Given the description of an element on the screen output the (x, y) to click on. 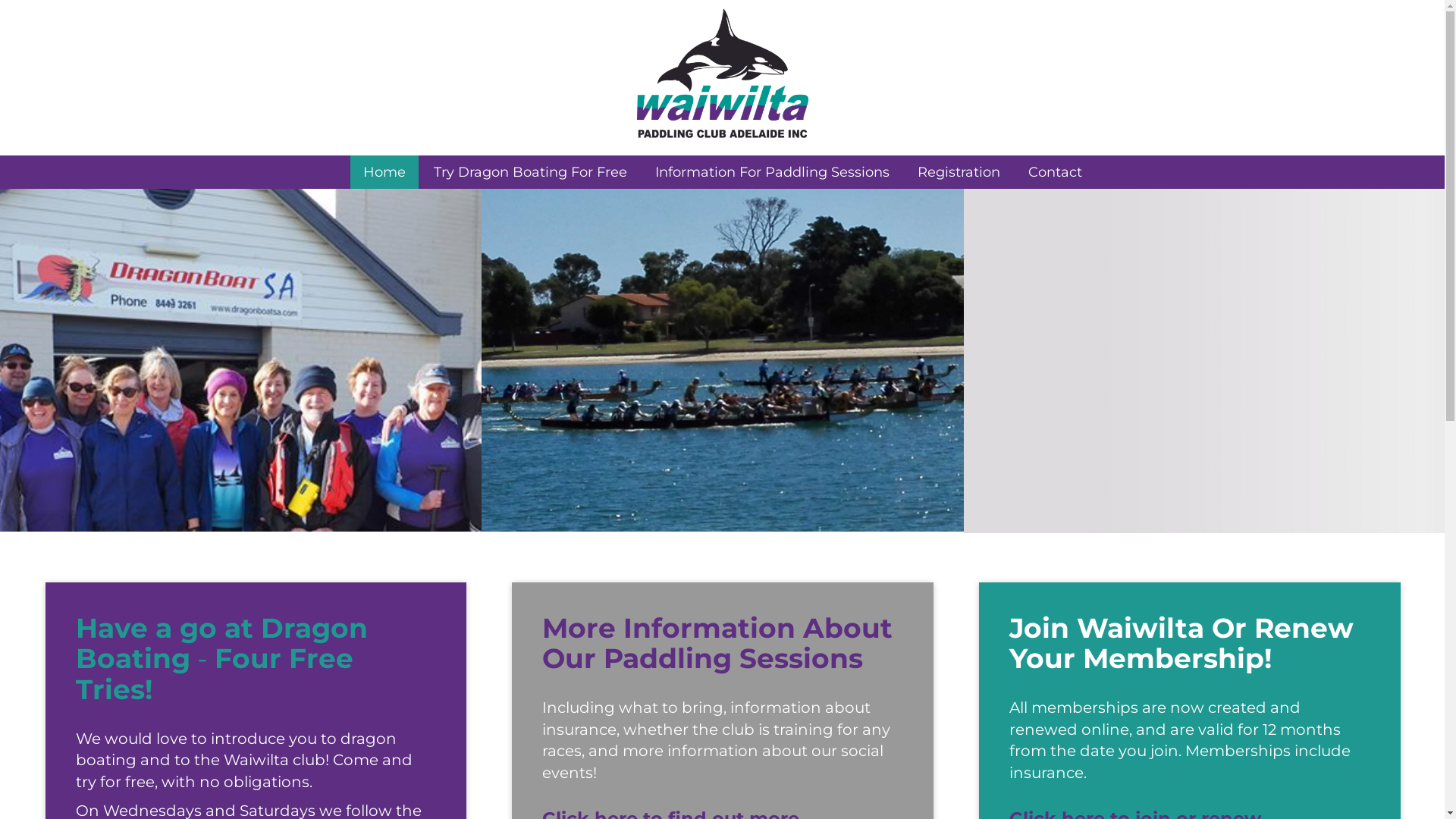
Registration Element type: text (957, 171)
Home Element type: text (384, 171)
Information For Paddling Sessions Element type: text (771, 171)
Try Dragon Boating For Free Element type: text (529, 171)
Contact Element type: text (1054, 171)
